Given the description of an element on the screen output the (x, y) to click on. 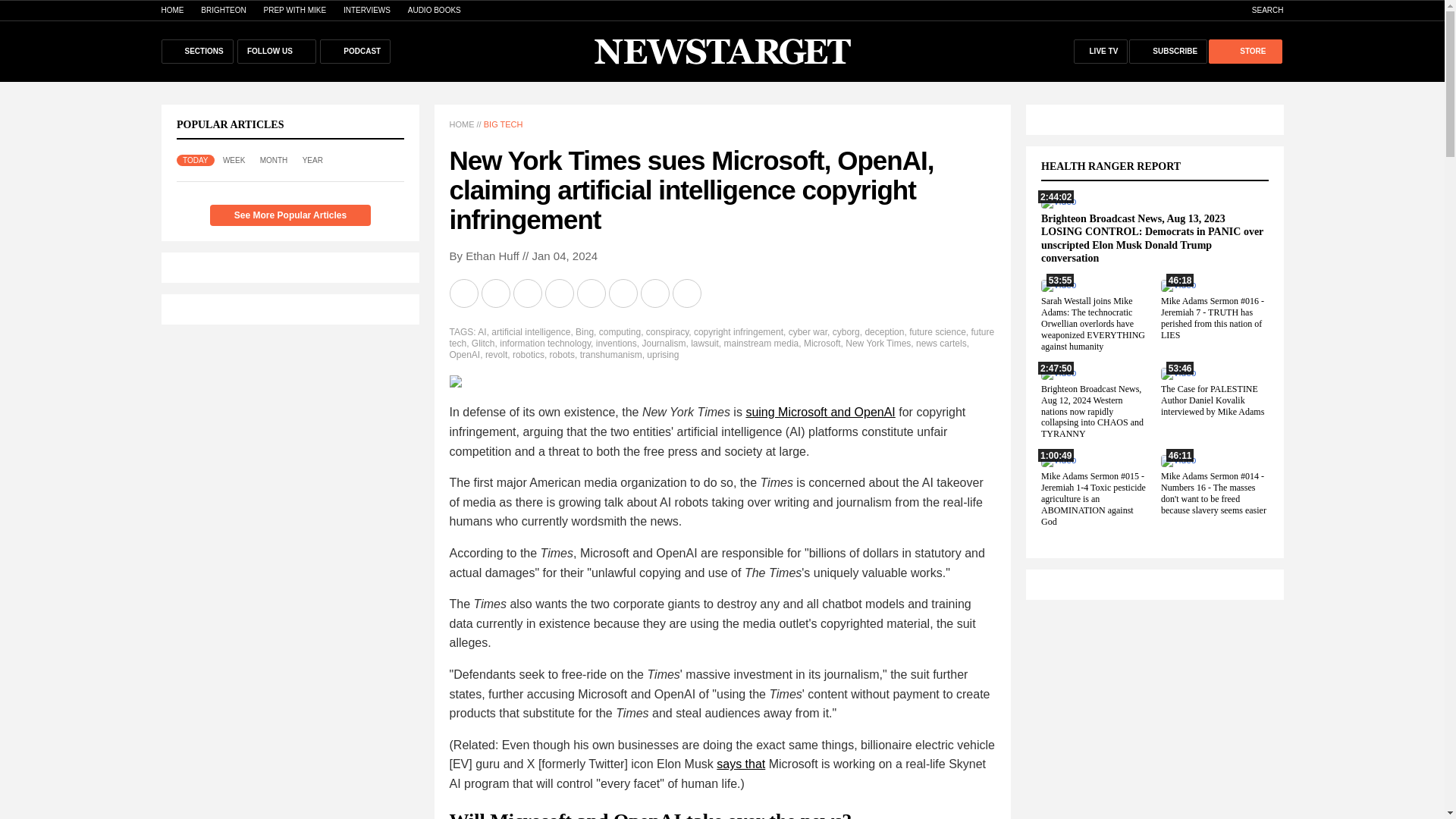
1:00:49 (1058, 460)
BIG TECH (502, 123)
SEARCH (1260, 9)
Share on GAB (592, 293)
LIVE TV (1101, 51)
53:46 (1177, 372)
BRIGHTEON (223, 9)
INTERVIEWS (366, 9)
artificial intelligence (531, 331)
